Given the description of an element on the screen output the (x, y) to click on. 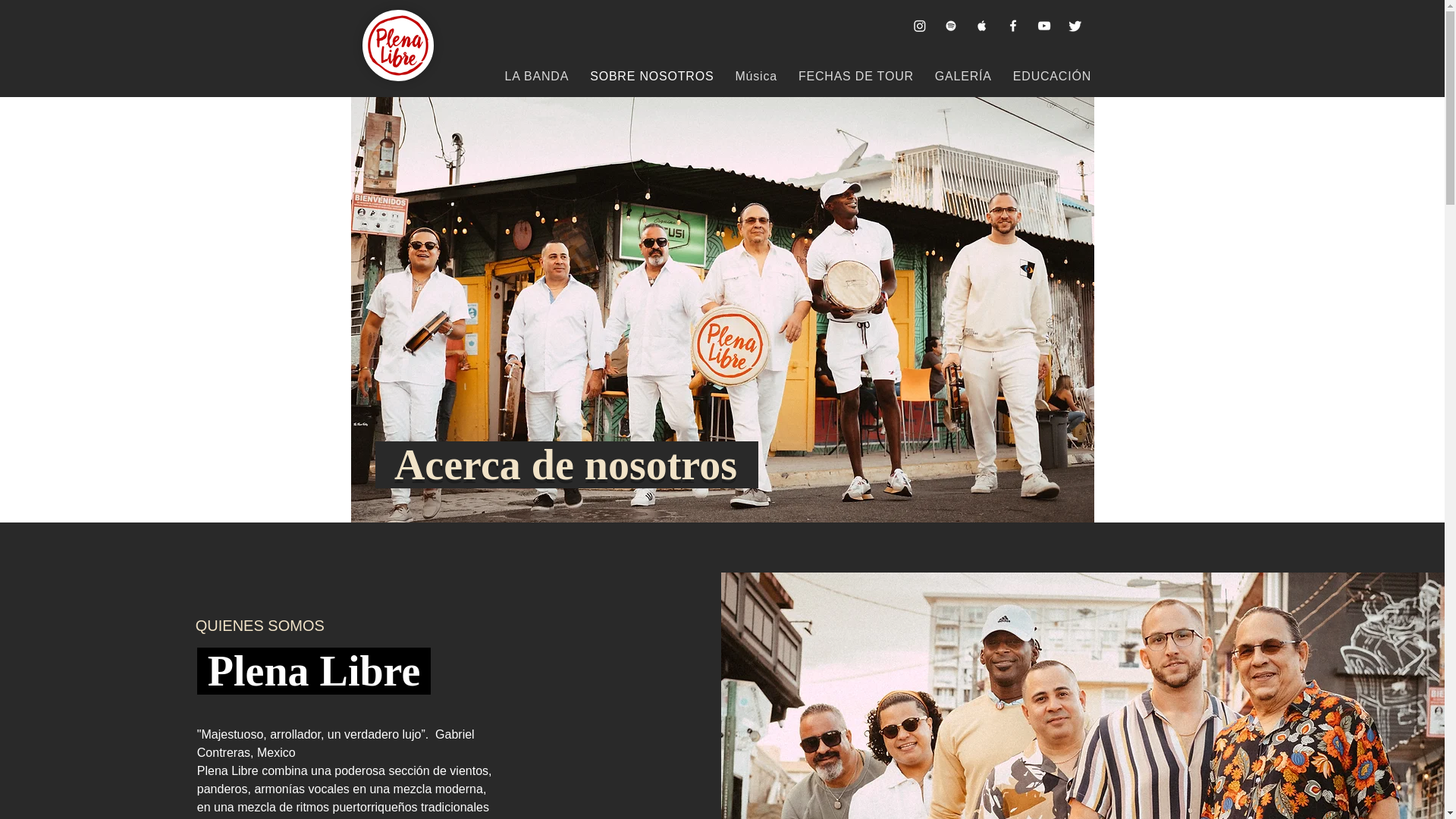
SOBRE NOSOTROS (651, 76)
FECHAS DE TOUR (855, 76)
LA BANDA (536, 76)
